Given the description of an element on the screen output the (x, y) to click on. 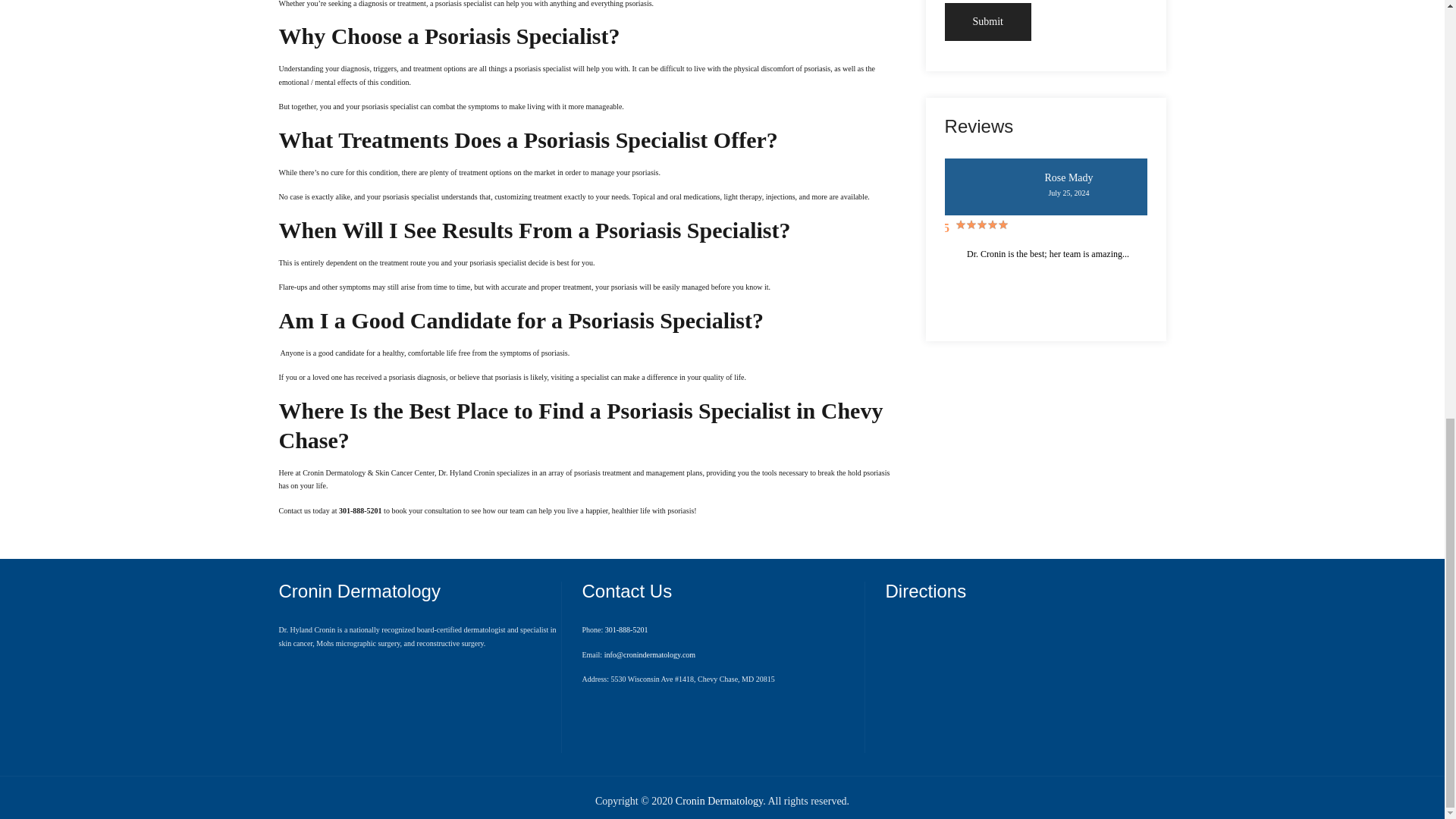
Submit (987, 22)
